Given the description of an element on the screen output the (x, y) to click on. 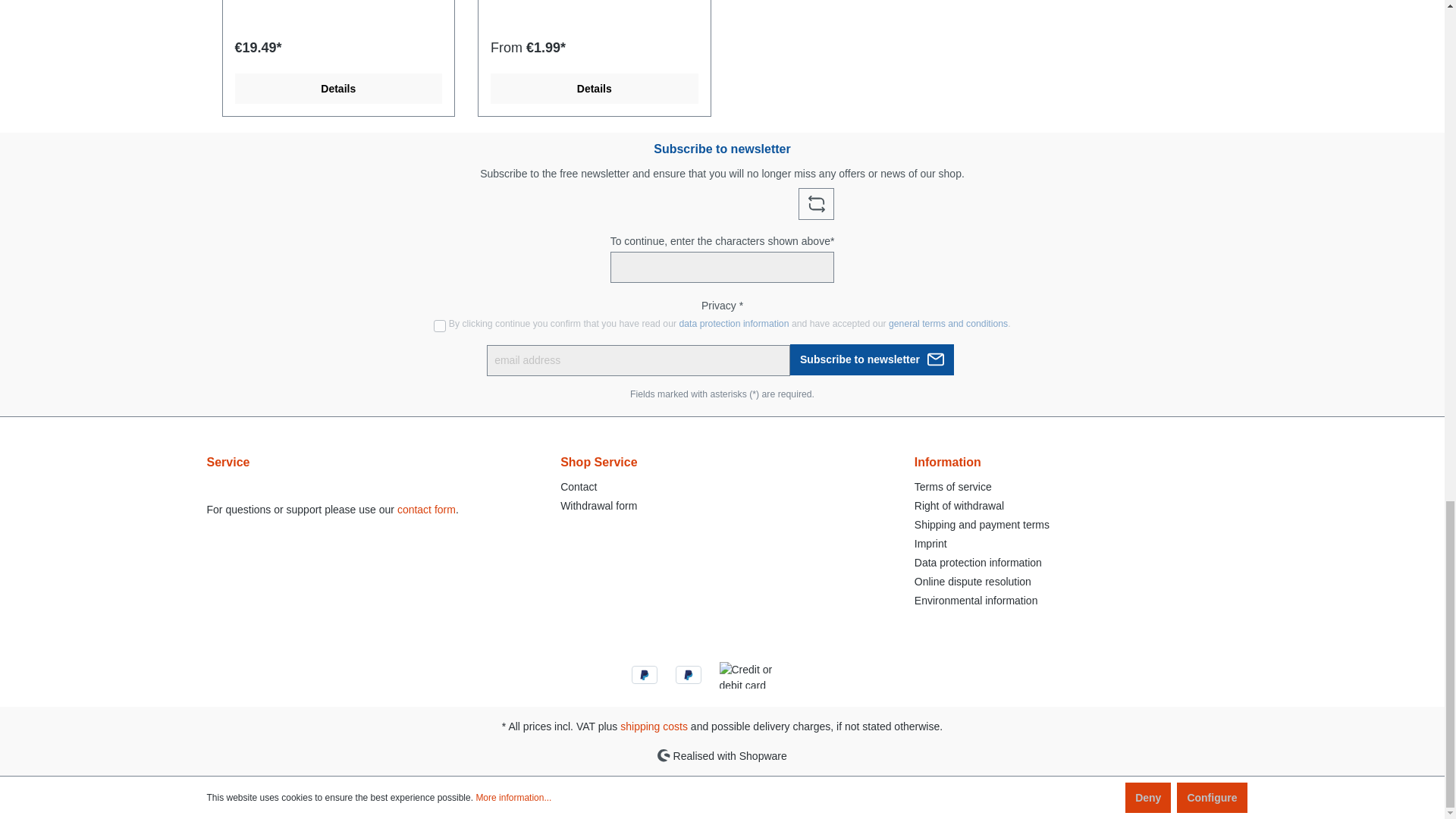
on (439, 325)
